Given the description of an element on the screen output the (x, y) to click on. 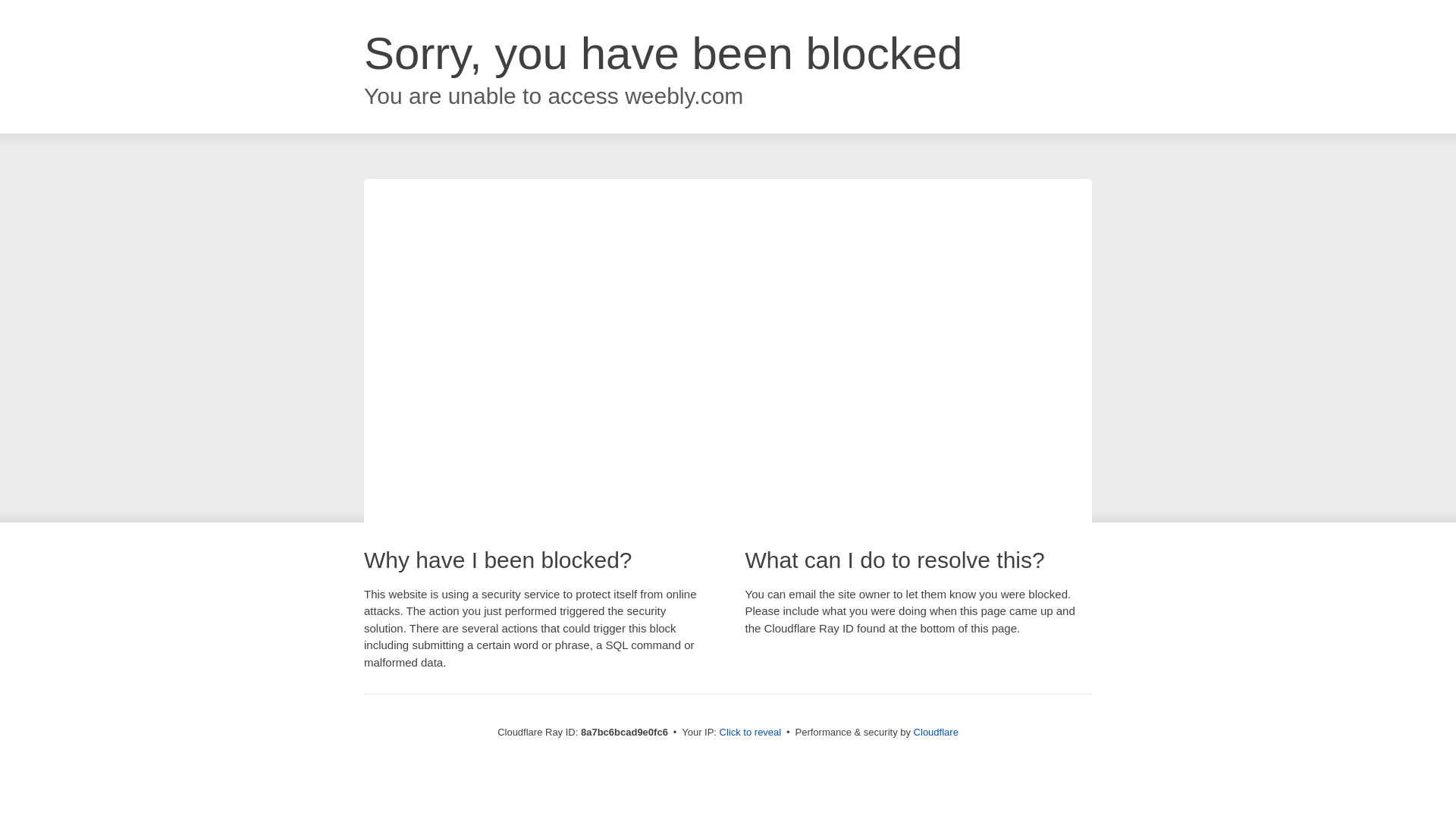
Click to reveal (750, 732)
Cloudflare (936, 731)
